Given the description of an element on the screen output the (x, y) to click on. 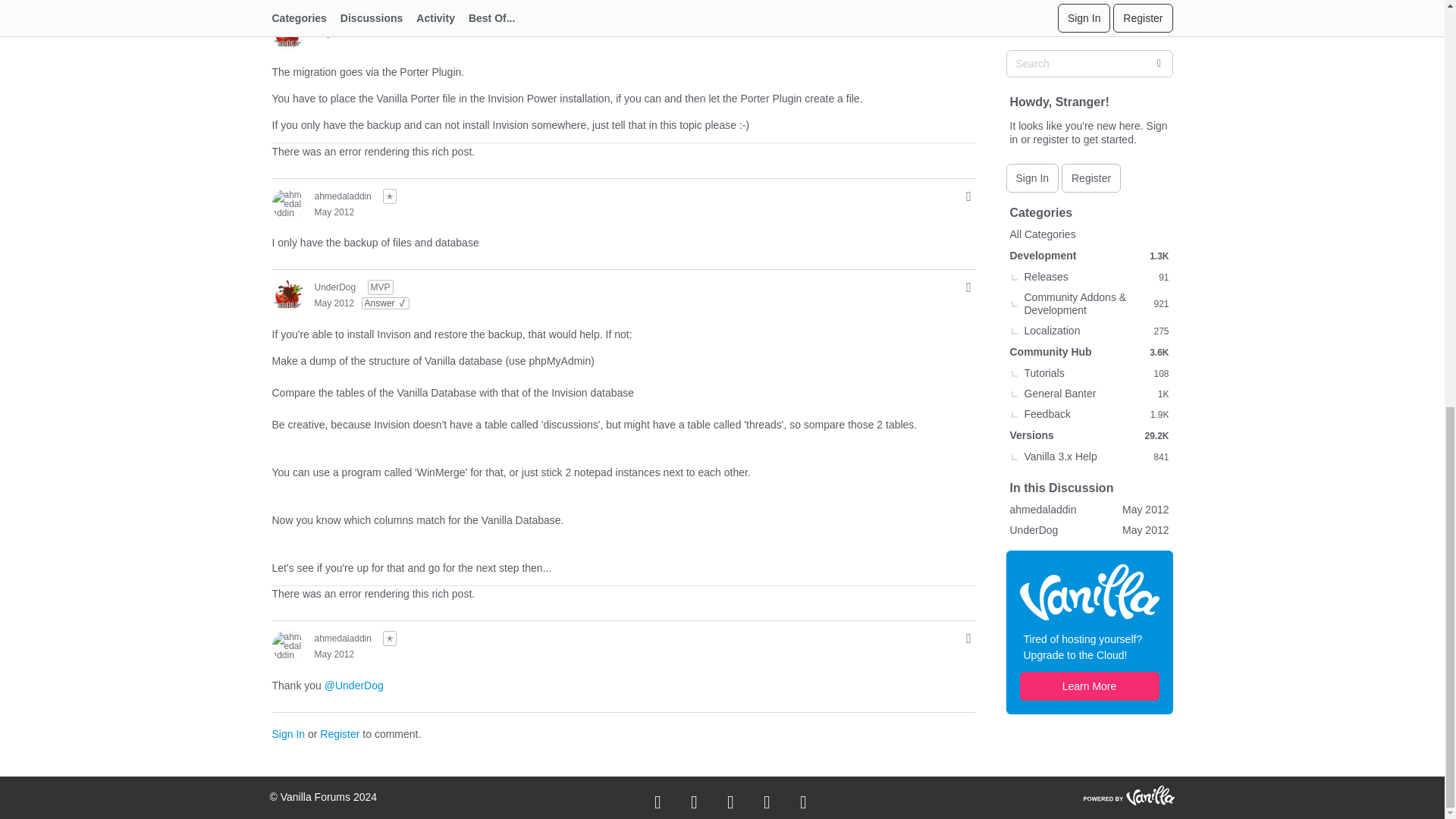
Level 1 (389, 196)
May 2012 (333, 31)
Powered By Vanilla (1128, 794)
May 2, 2012 5:00PM (333, 31)
ahmedaladdin (286, 203)
May 2012 (333, 212)
Most Valuable Poster (380, 15)
UnderDog (334, 16)
UnderDog (286, 33)
ahmedaladdin (342, 195)
